Given the description of an element on the screen output the (x, y) to click on. 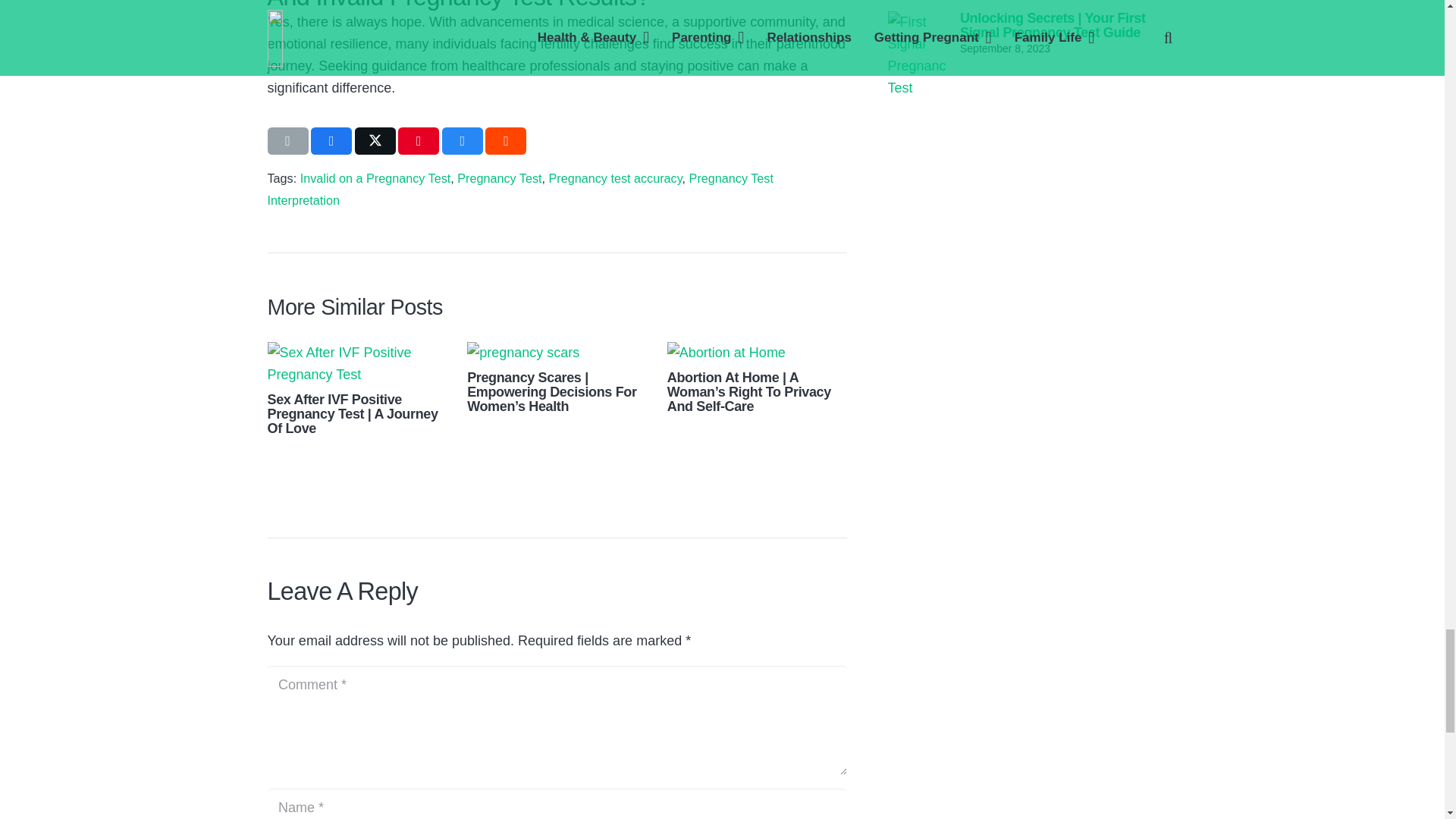
Email this (286, 140)
Tweet this (375, 140)
Share this (331, 140)
